Given the description of an element on the screen output the (x, y) to click on. 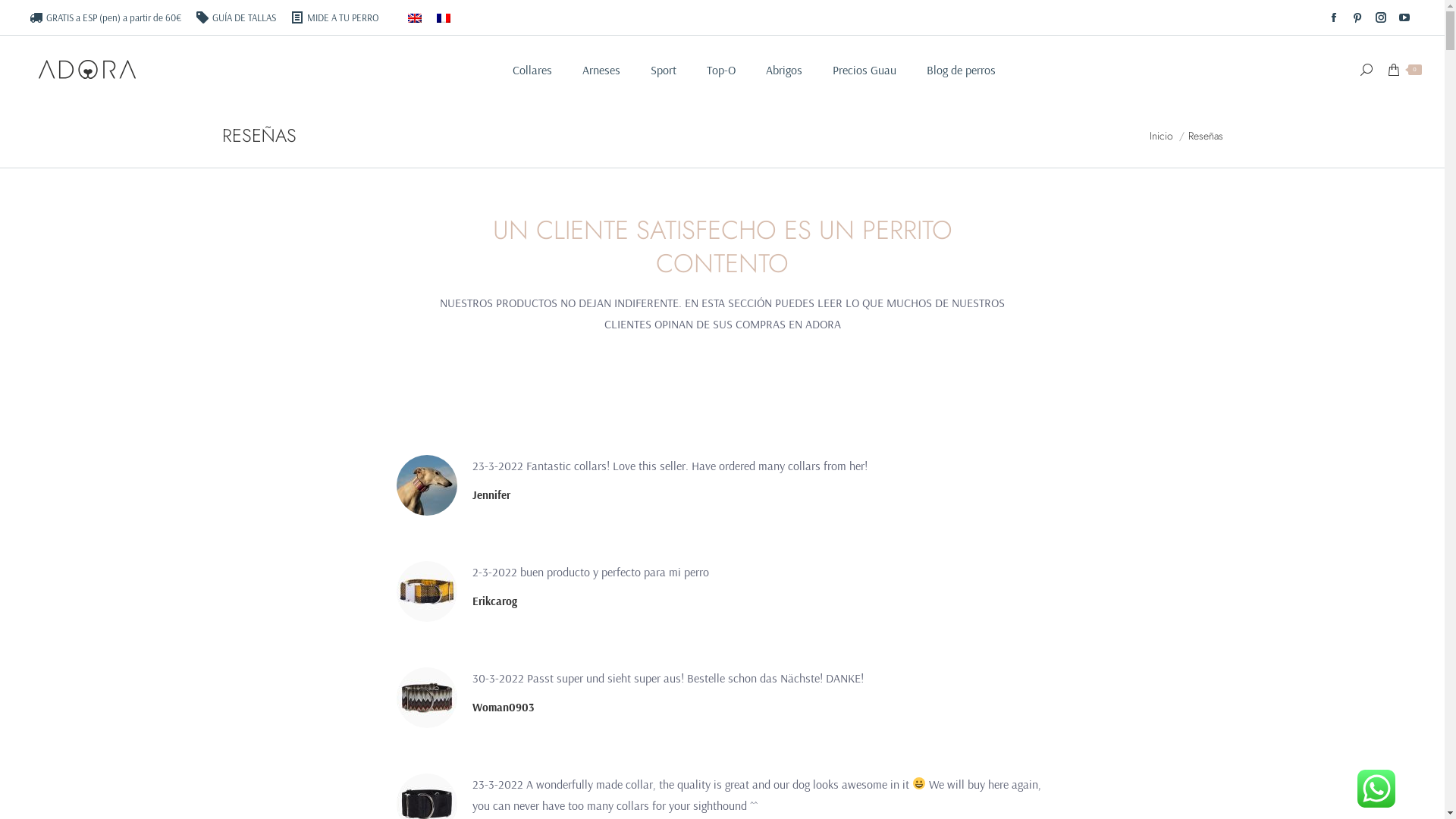
Arneses Element type: text (601, 69)
Abrigos Element type: text (783, 69)
Pinterest page opens in new window Element type: text (1357, 17)
Ir! Element type: text (741, 448)
Facebook page opens in new window Element type: text (1333, 17)
 0 Element type: text (1404, 68)
YouTube page opens in new window Element type: text (1404, 17)
Precios Guau Element type: text (864, 69)
Top-O Element type: text (720, 69)
Instagram page opens in new window Element type: text (1380, 17)
Blog de perros Element type: text (960, 69)
MIDE A TU PERRO Element type: text (335, 17)
Ir! Element type: text (19, 16)
Inicio Element type: text (1161, 135)
Sport Element type: text (663, 69)
Collares Element type: text (532, 69)
